Given the description of an element on the screen output the (x, y) to click on. 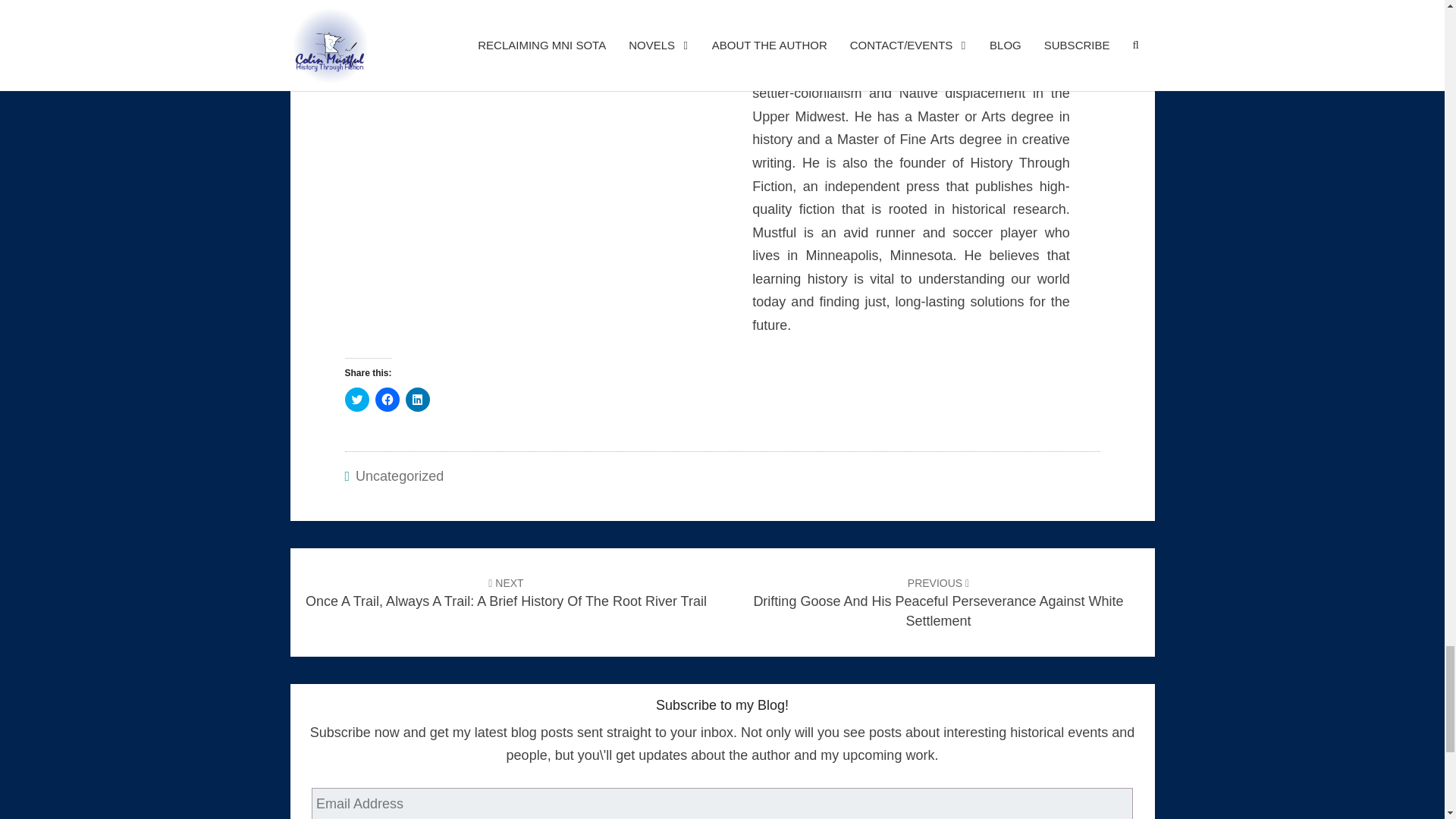
Click to share on LinkedIn (416, 399)
Click to share on Twitter (355, 399)
Click to share on Facebook (386, 399)
